Given the description of an element on the screen output the (x, y) to click on. 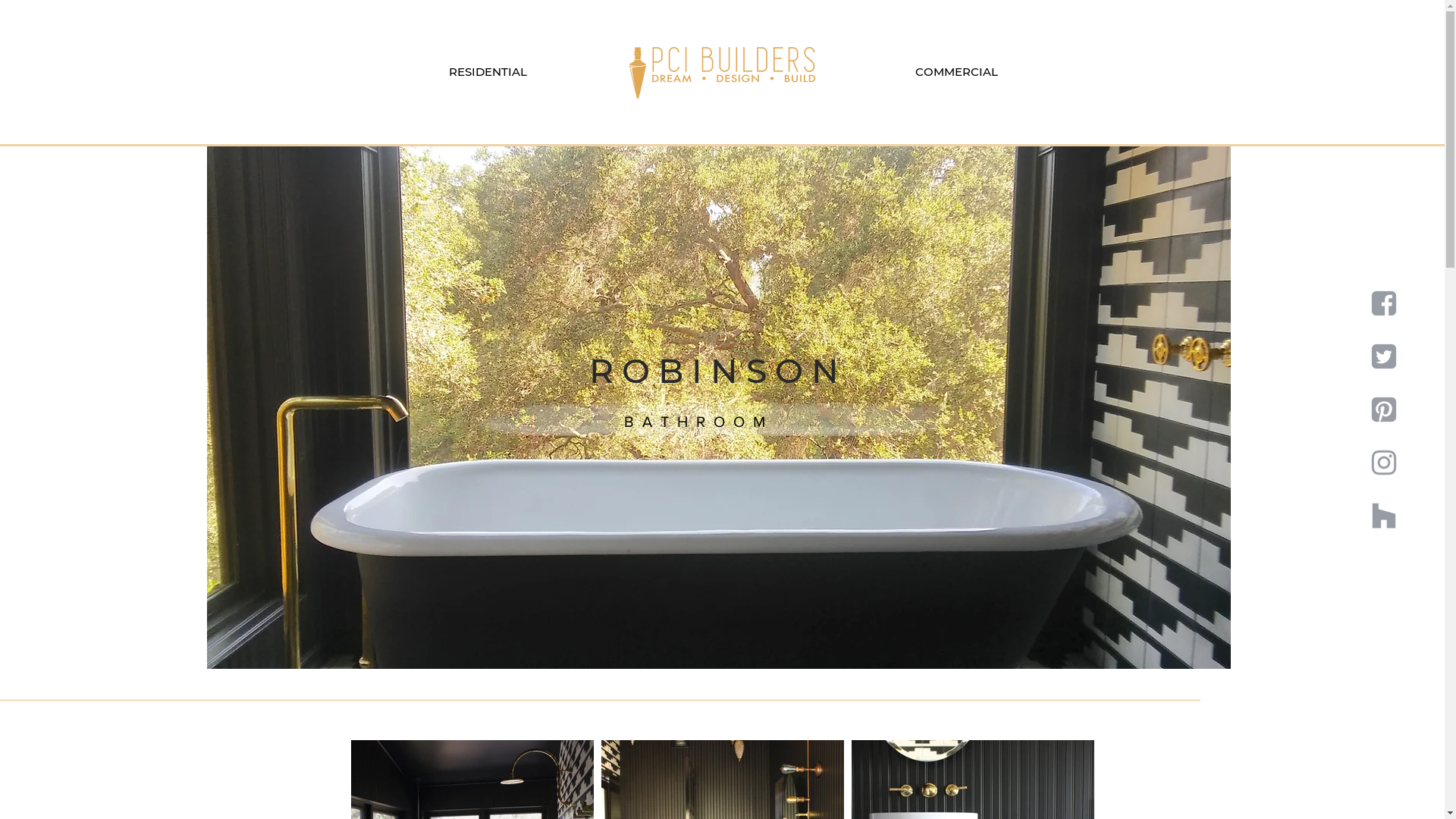
RESIDENTIAL Element type: text (487, 72)
COMMERCIAL Element type: text (956, 72)
